Given the description of an element on the screen output the (x, y) to click on. 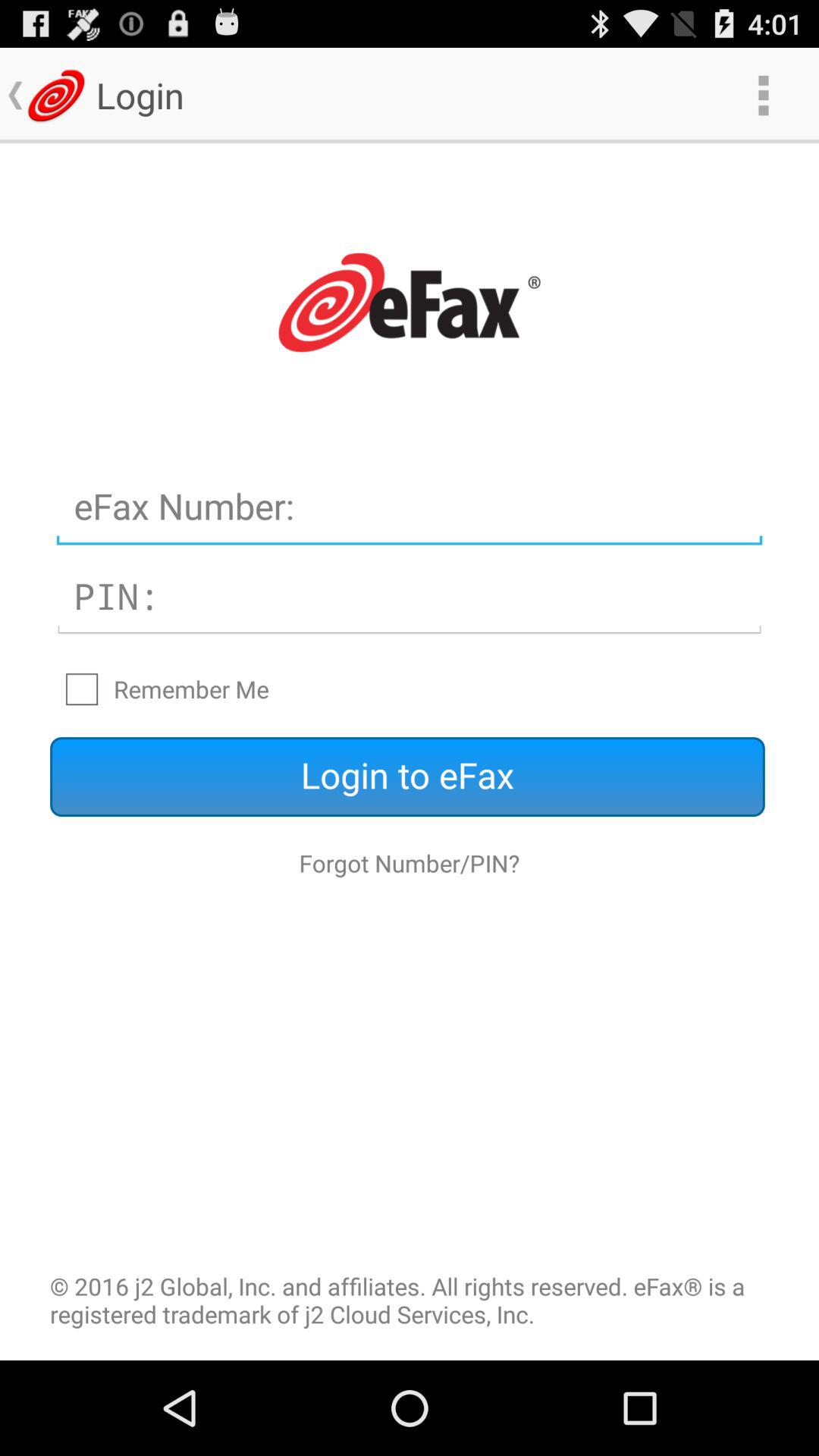
launch the item next to login (763, 95)
